Given the description of an element on the screen output the (x, y) to click on. 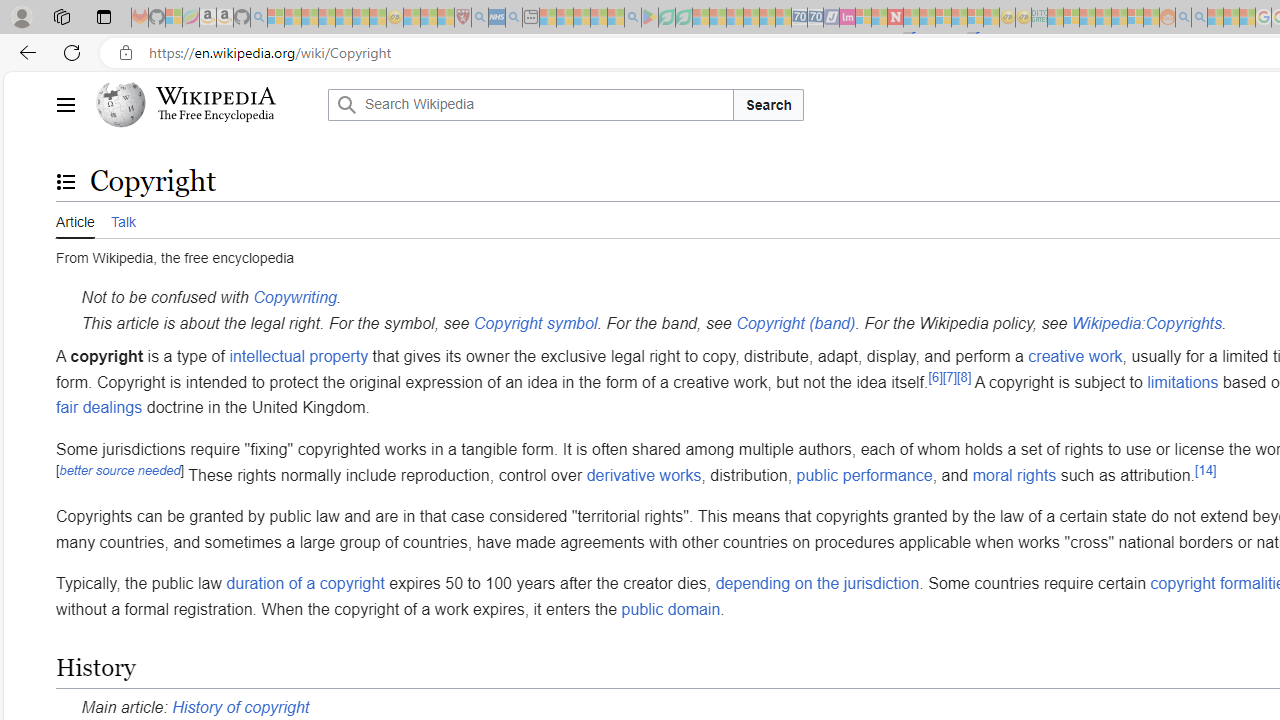
Microsoft-Report a Concern to Bing - Sleeping (173, 17)
Copywriting (294, 297)
14 Common Myths Debunked By Scientific Facts - Sleeping (927, 17)
Workspaces (61, 16)
Kinda Frugal - MSN - Sleeping (1119, 17)
Cheap Car Rentals - Save70.com - Sleeping (799, 17)
google - Search - Sleeping (632, 17)
Main menu (65, 104)
Copyright symbol (535, 322)
derivative works (643, 474)
